Given the description of an element on the screen output the (x, y) to click on. 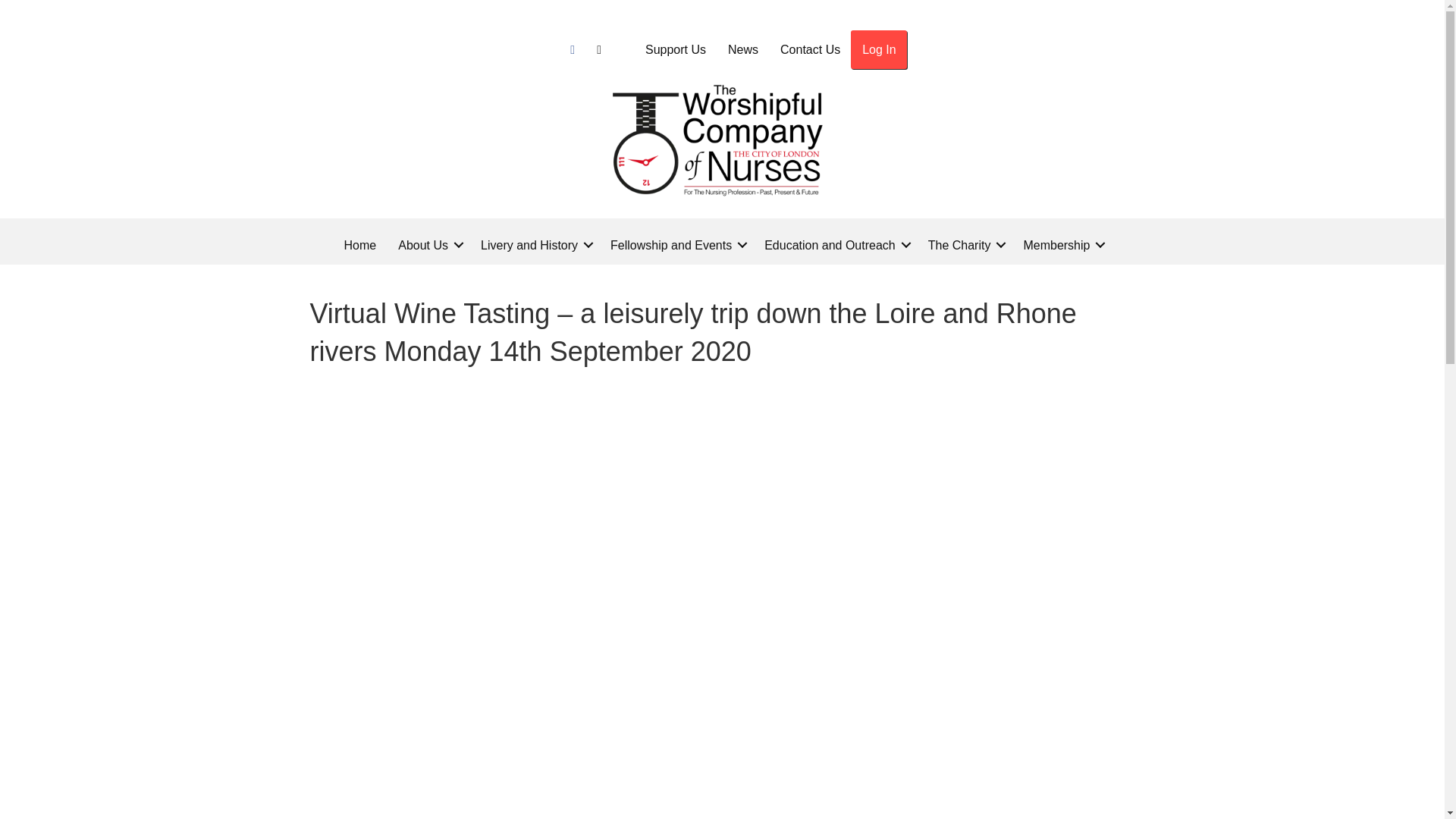
Contact Us (810, 49)
Log In (878, 49)
News (742, 49)
Home (360, 245)
Support Us (675, 49)
Fellowship and Events (675, 245)
About Us (427, 245)
Education and Outreach (835, 245)
Livery and History (534, 245)
